Given the description of an element on the screen output the (x, y) to click on. 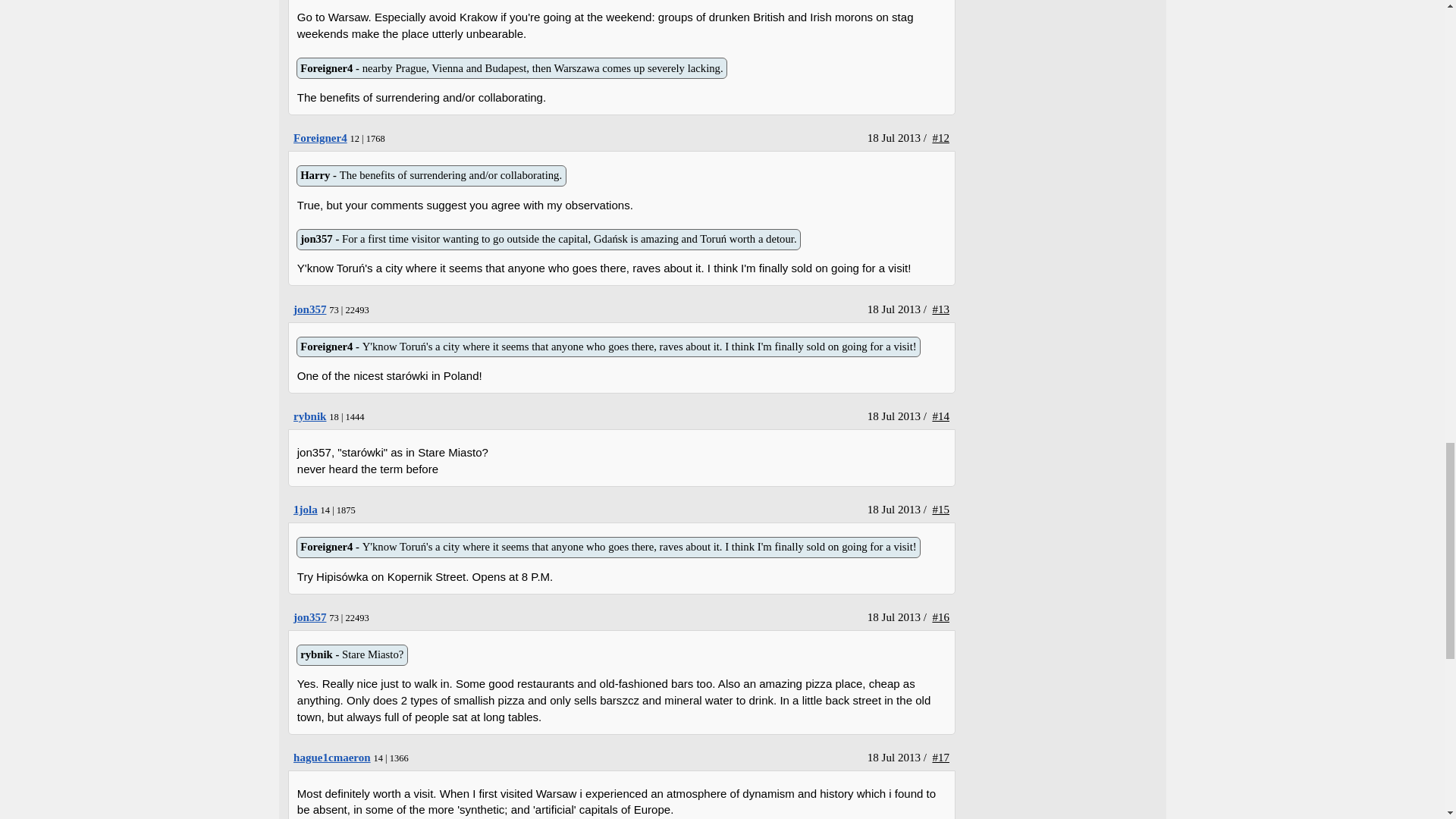
jon357 (310, 616)
Foreigner4 (320, 137)
jon357 (310, 309)
rybnik (310, 416)
1jola (305, 509)
hague1cmaeron (332, 757)
